Given the description of an element on the screen output the (x, y) to click on. 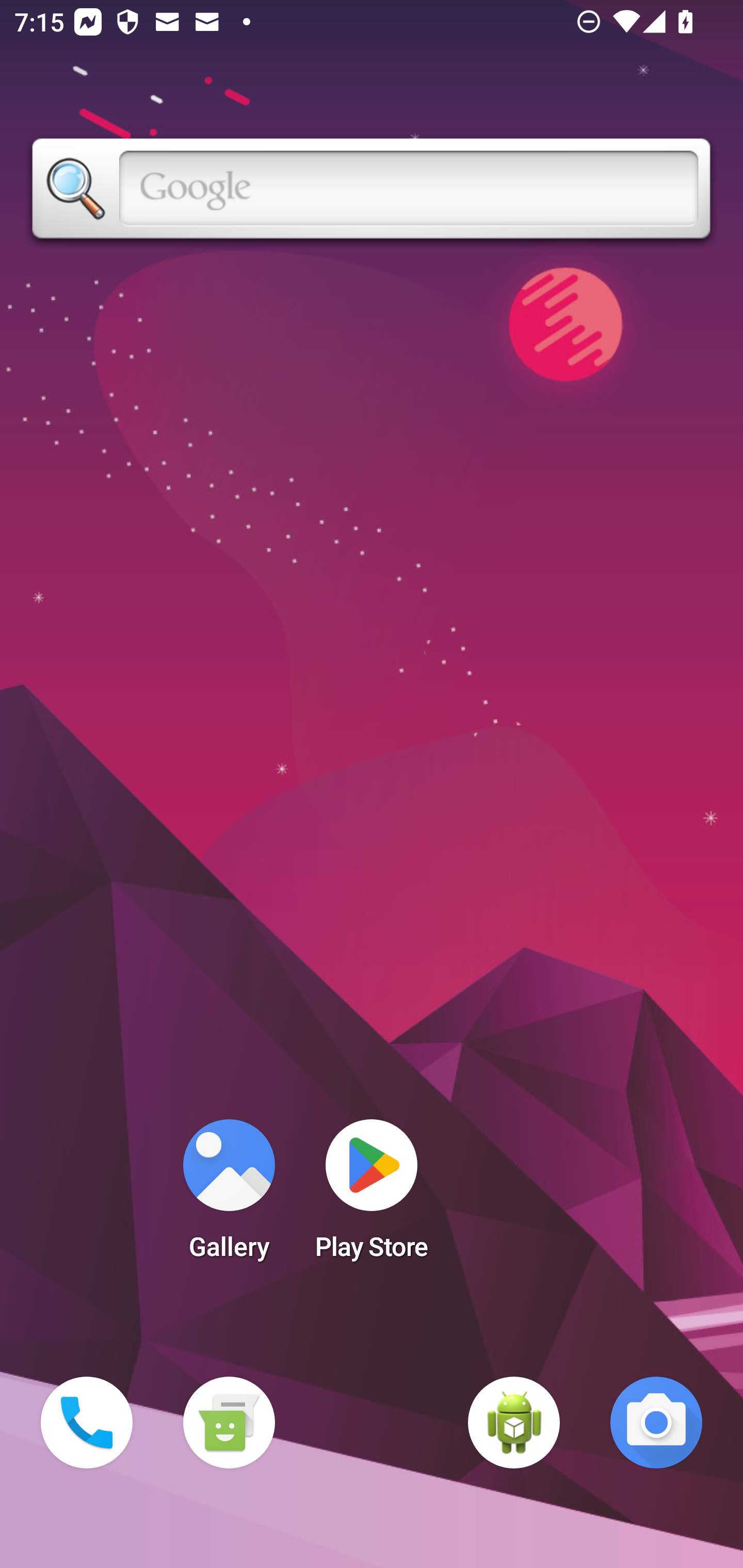
Gallery (228, 1195)
Play Store (371, 1195)
Phone (86, 1422)
Messaging (228, 1422)
WebView Browser Tester (513, 1422)
Camera (656, 1422)
